Given the description of an element on the screen output the (x, y) to click on. 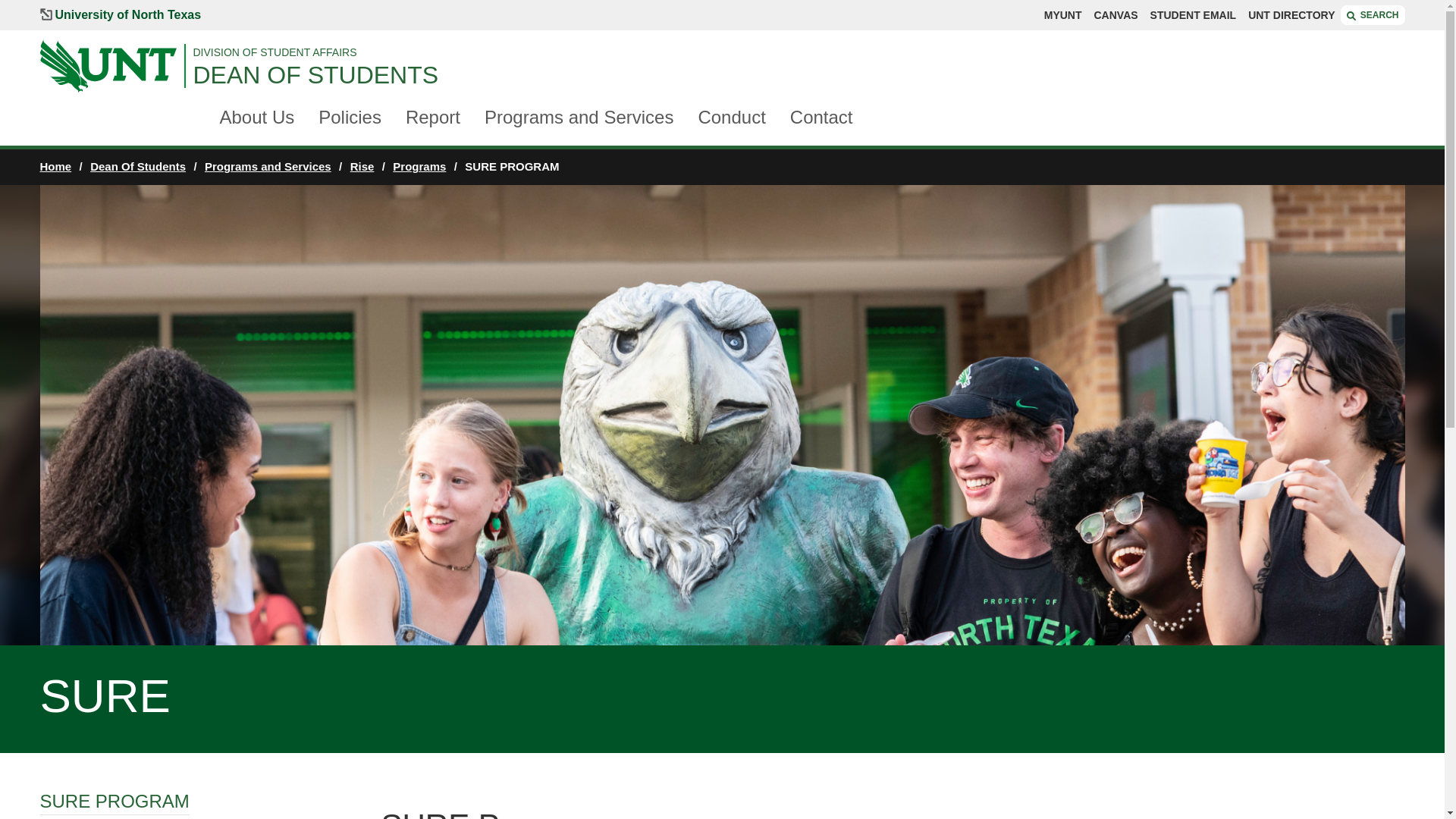
University of North Texas (119, 14)
Division of Student Affairs (798, 52)
Contact (821, 118)
STUDENT EMAIL (1193, 15)
Policies (349, 118)
Programs and Services (578, 118)
SEARCH (1372, 14)
DIVISION OF STUDENT AFFAIRS (798, 52)
Conduct (731, 118)
About Us (257, 118)
MYUNT (1062, 15)
dean of students (798, 74)
Report (433, 118)
Skip to main content (82, 7)
CANVAS (1115, 15)
